Given the description of an element on the screen output the (x, y) to click on. 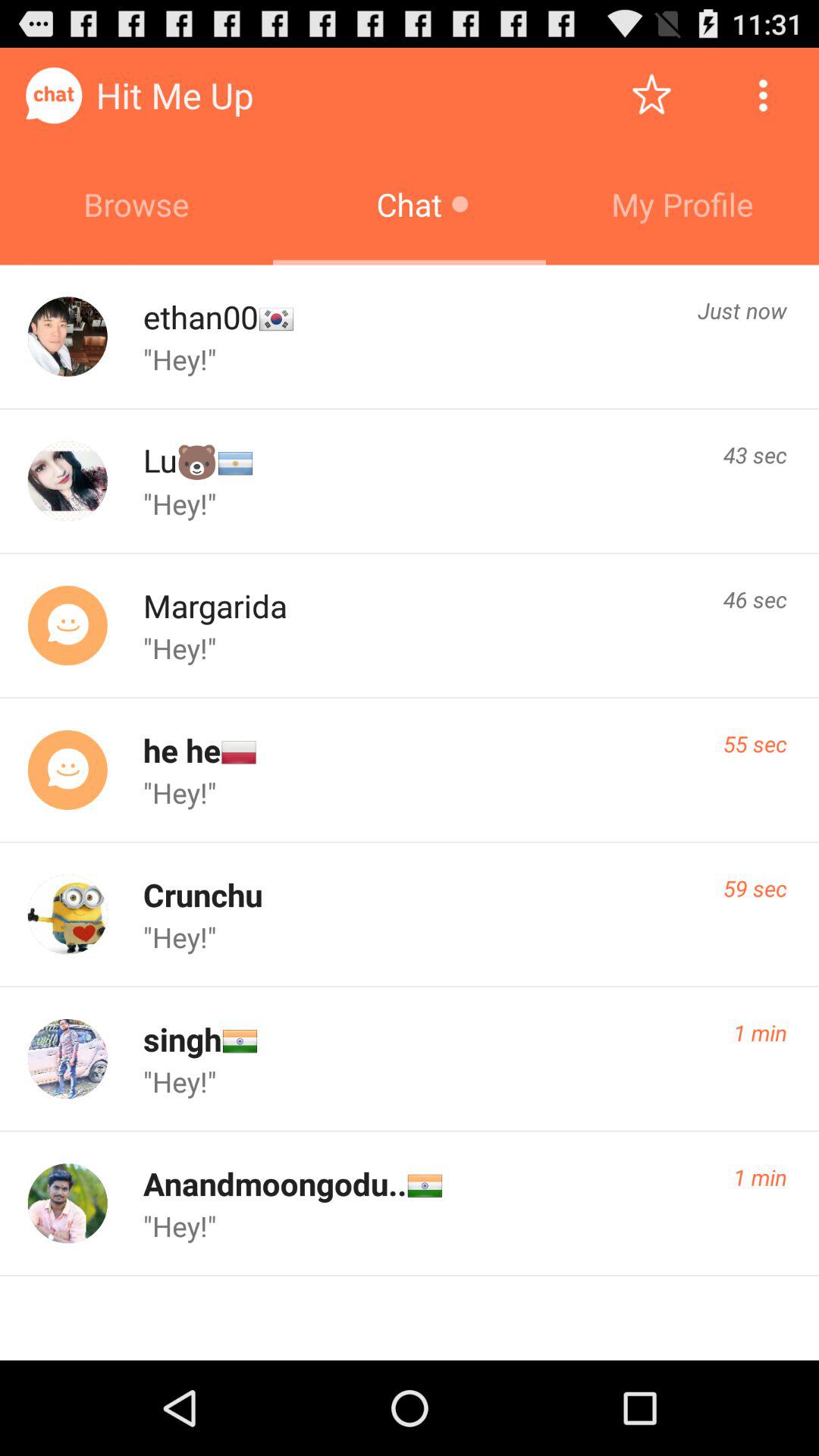
choose app above the just now (682, 204)
